Given the description of an element on the screen output the (x, y) to click on. 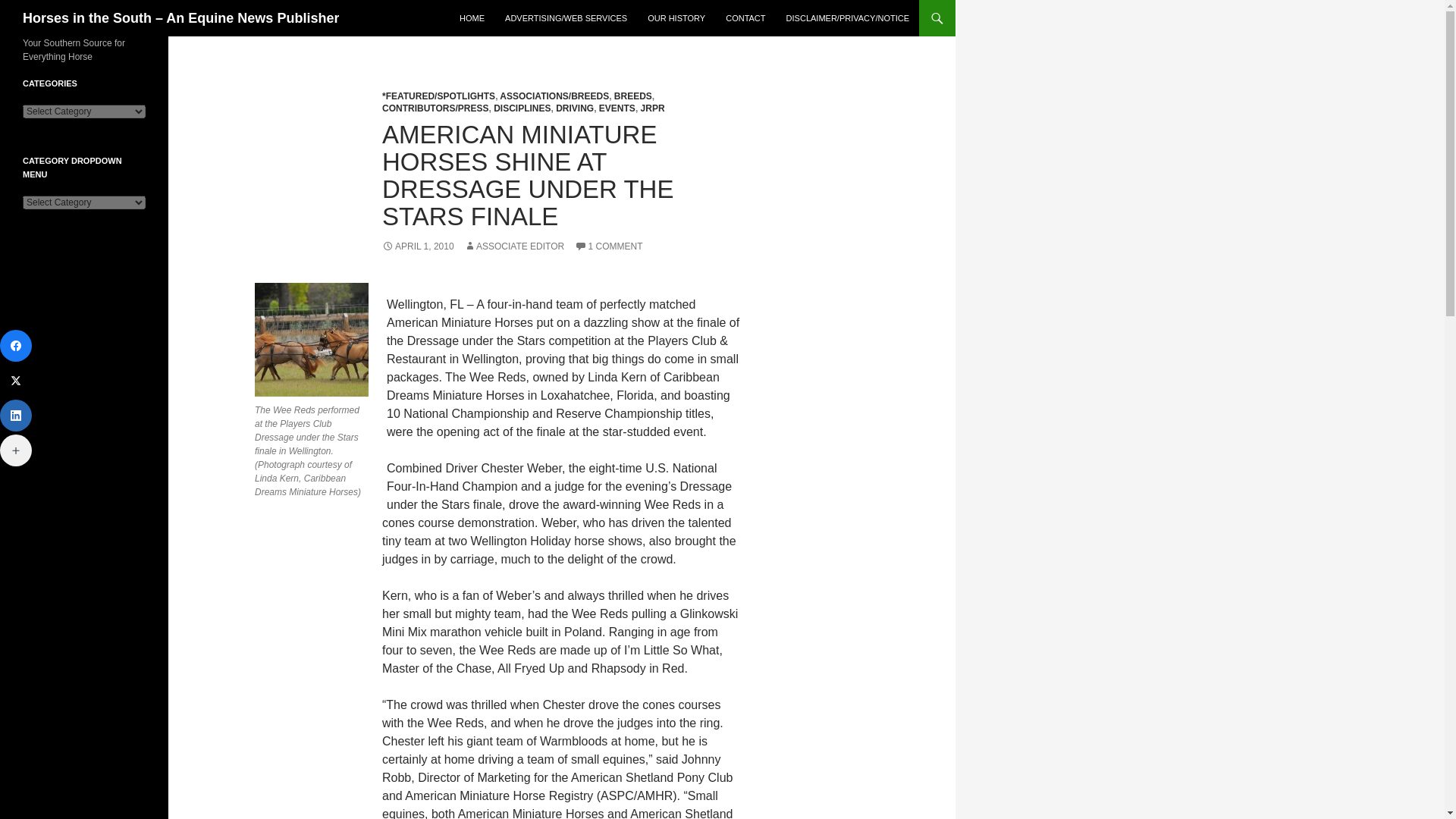
EVENTS (616, 108)
DISCIPLINES (521, 108)
JRPR (652, 108)
APRIL 1, 2010 (417, 245)
ASSOCIATE EDITOR (514, 245)
OUR HISTORY (676, 18)
BREEDS (633, 95)
1 COMMENT (609, 245)
DRIVING (575, 108)
AB4for4 (311, 339)
HOME (471, 18)
CONTACT (745, 18)
